Given the description of an element on the screen output the (x, y) to click on. 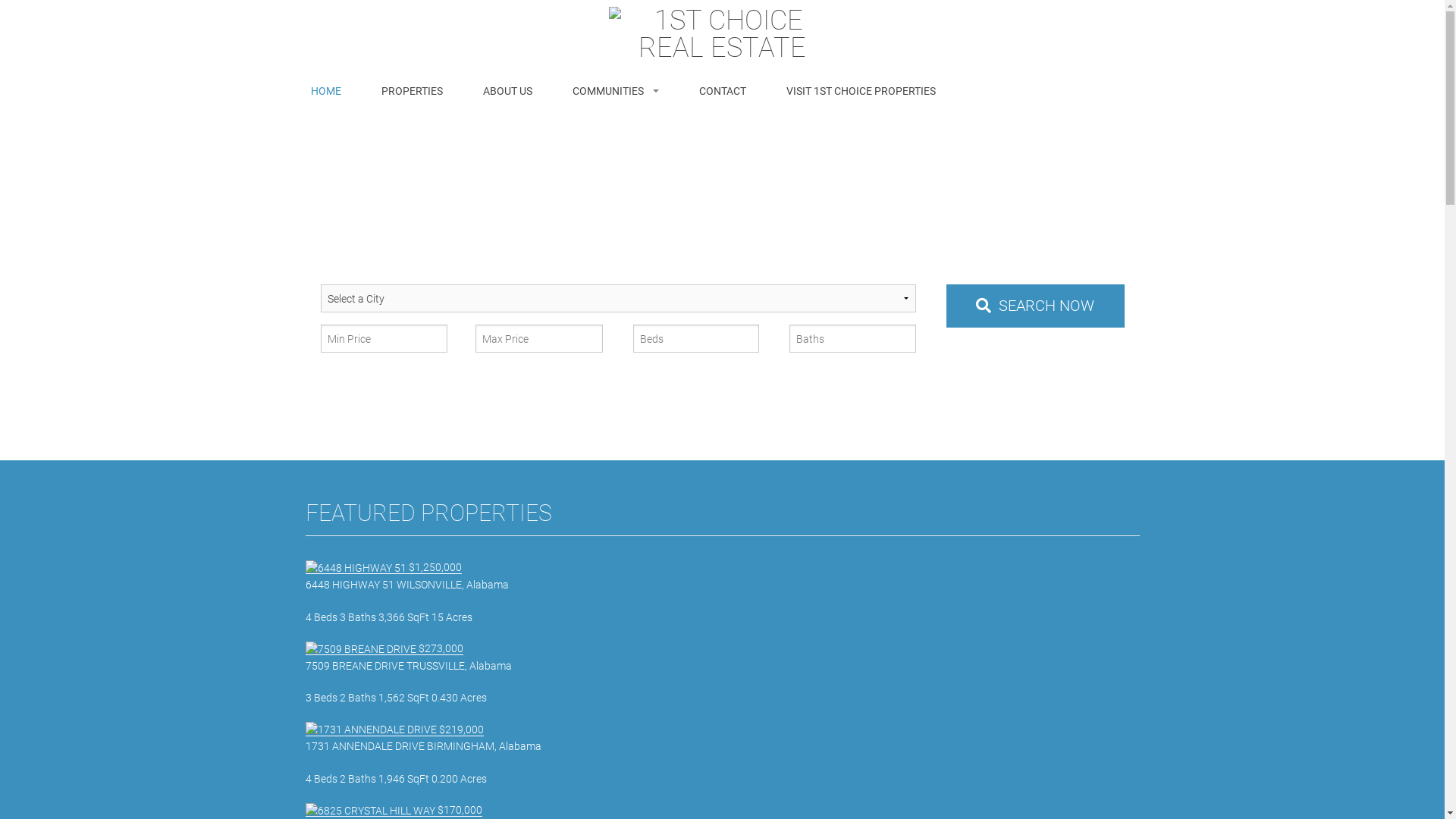
6448 HIGHWAY 51 WILSONVILLE, Alabama Element type: text (721, 592)
PROPERTIES Element type: text (410, 90)
Jefferson Element type: text (614, 130)
COMMUNITIES Element type: text (614, 90)
$273,000 Element type: text (383, 648)
HOME Element type: text (325, 90)
1st Choice Real Estate Element type: hover (721, 32)
CONTACT Element type: text (722, 90)
1731 ANNENDALE DRIVE BIRMINGHAM, Alabama Element type: text (721, 753)
Advanced Search Element type: text (989, 345)
1731  ANNENDALE DRIVE  BIRMINGHAM, Alabama Element type: hover (370, 729)
7509 BREANE DRIVE TRUSSVILLE, Alabama Element type: text (721, 673)
VISIT 1ST CHOICE PROPERTIES Element type: text (859, 90)
$219,000 Element type: text (393, 729)
Tuscaloosa Element type: text (614, 209)
$1,250,000 Element type: text (382, 567)
SEARCH NOW Element type: text (1035, 305)
7509  BREANE DRIVE  TRUSSVILLE, Alabama Element type: hover (359, 649)
$170,000 Element type: text (392, 809)
Map Search Element type: text (1094, 345)
6448  HIGHWAY 51  WILSONVILLE, Alabama Element type: hover (354, 568)
Shelby Element type: text (614, 248)
ABOUT US Element type: text (506, 90)
St Clair Element type: text (614, 169)
